Given the description of an element on the screen output the (x, y) to click on. 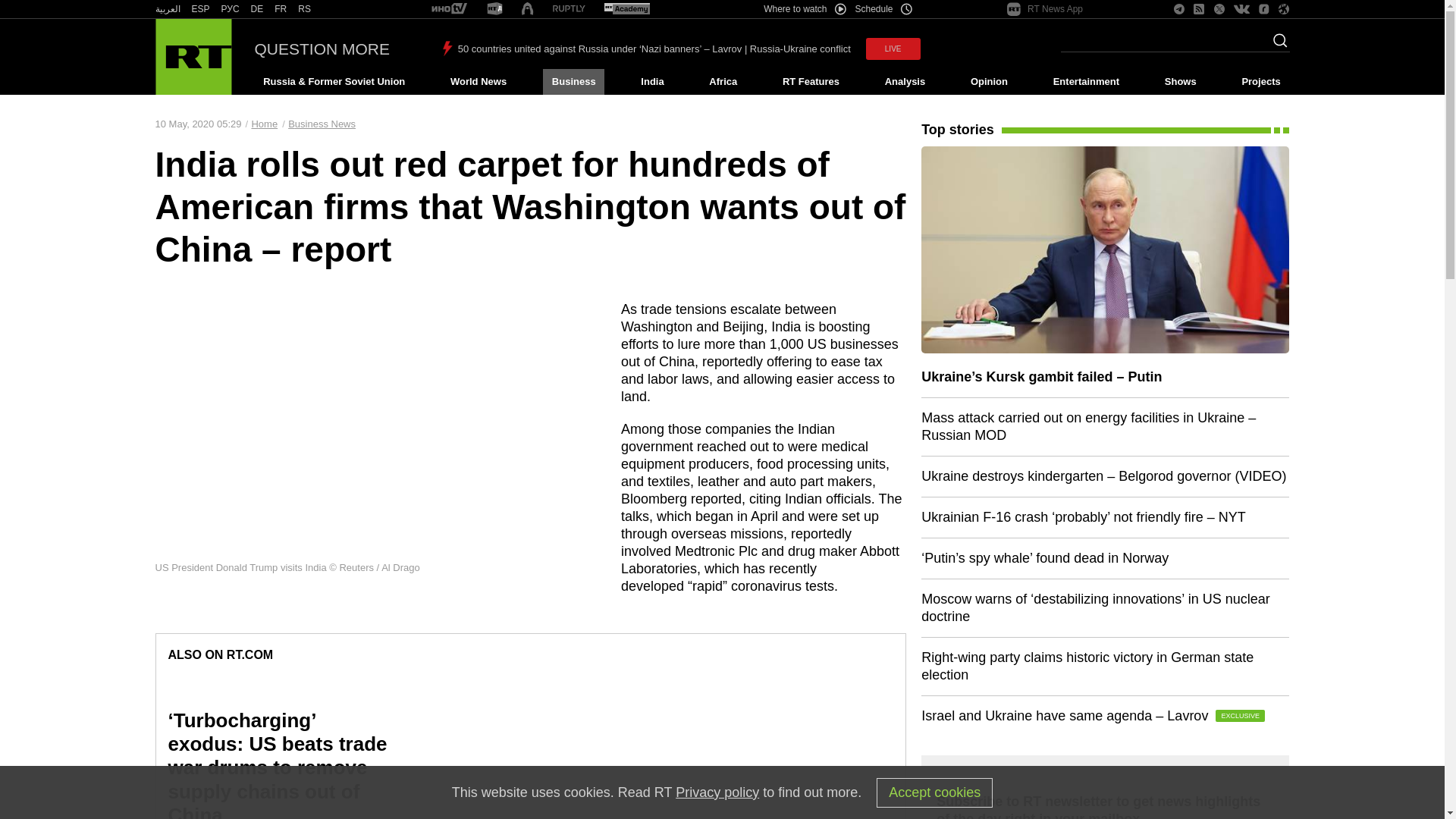
Search (1276, 44)
LIVE (893, 48)
Business (573, 81)
RT News App (1045, 9)
RT  (304, 9)
Where to watch (803, 9)
RT  (626, 9)
ESP (199, 9)
FR (280, 9)
RS (304, 9)
